Given the description of an element on the screen output the (x, y) to click on. 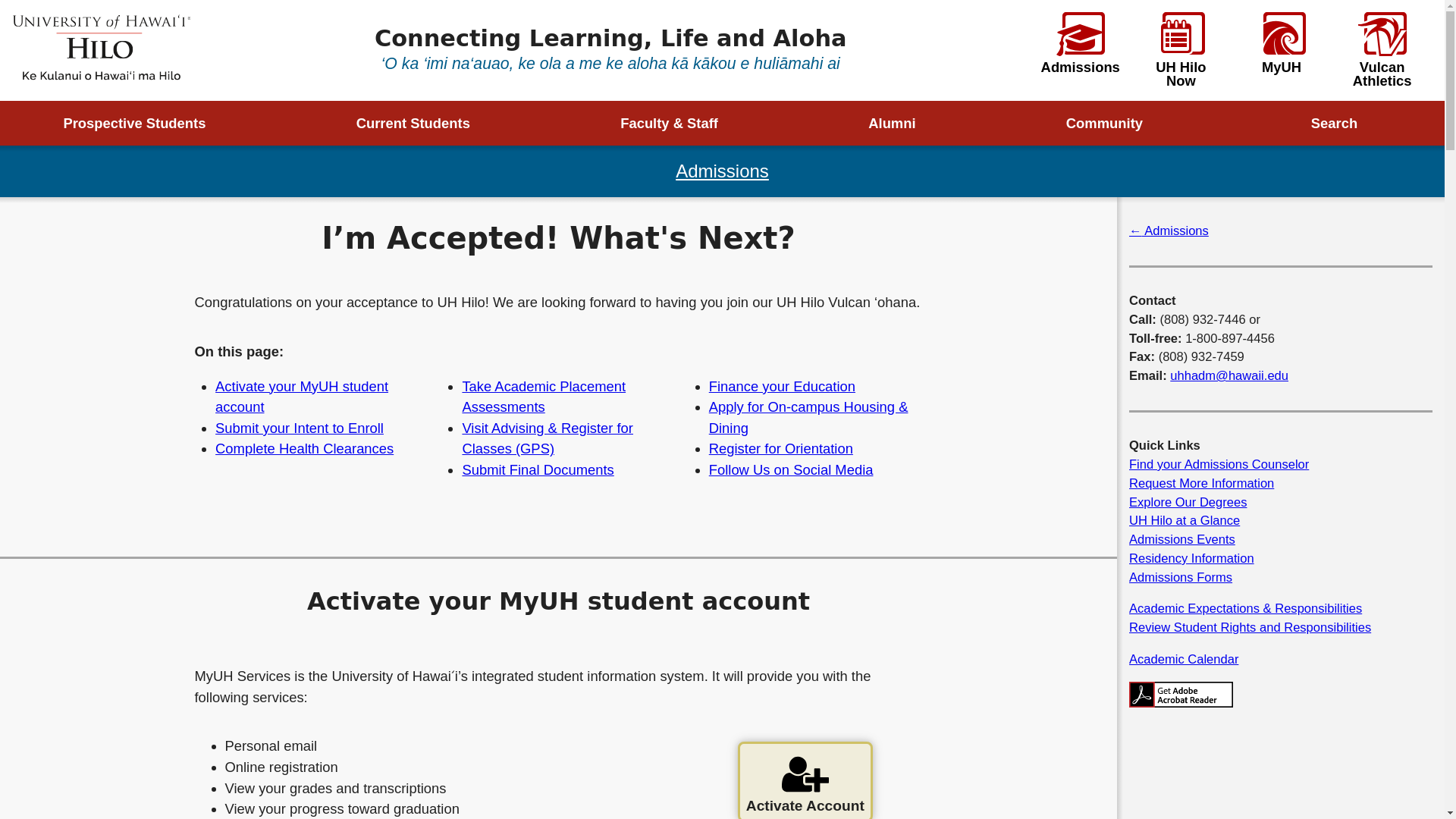
Submit Final Documents (536, 469)
Admissions (721, 170)
Activate Account (805, 780)
Complete Health Clearances (304, 448)
Admissions (1080, 43)
Current Students (424, 123)
Prospective Students (146, 123)
Activate your MyUH student account (301, 396)
MyUH (1281, 43)
Finance your Education (782, 385)
